Given the description of an element on the screen output the (x, y) to click on. 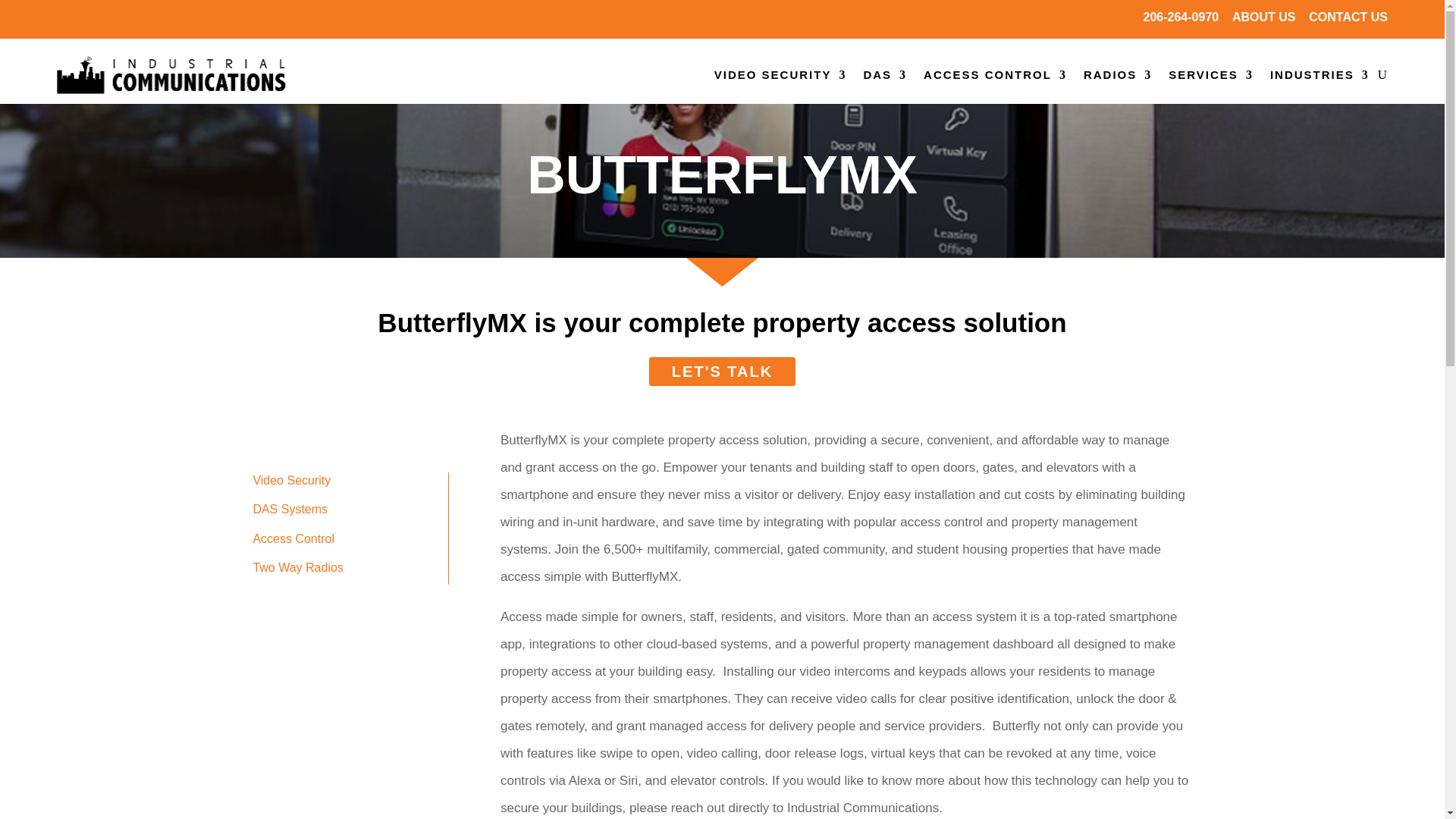
VIDEO SECURITY (780, 74)
ACCESS CONTROL (995, 74)
CONTACT US (1347, 16)
SERVICES (1211, 74)
ABOUT US (1263, 16)
DAS (885, 74)
206-264-0970 (1181, 16)
RADIOS (1117, 74)
